Given the description of an element on the screen output the (x, y) to click on. 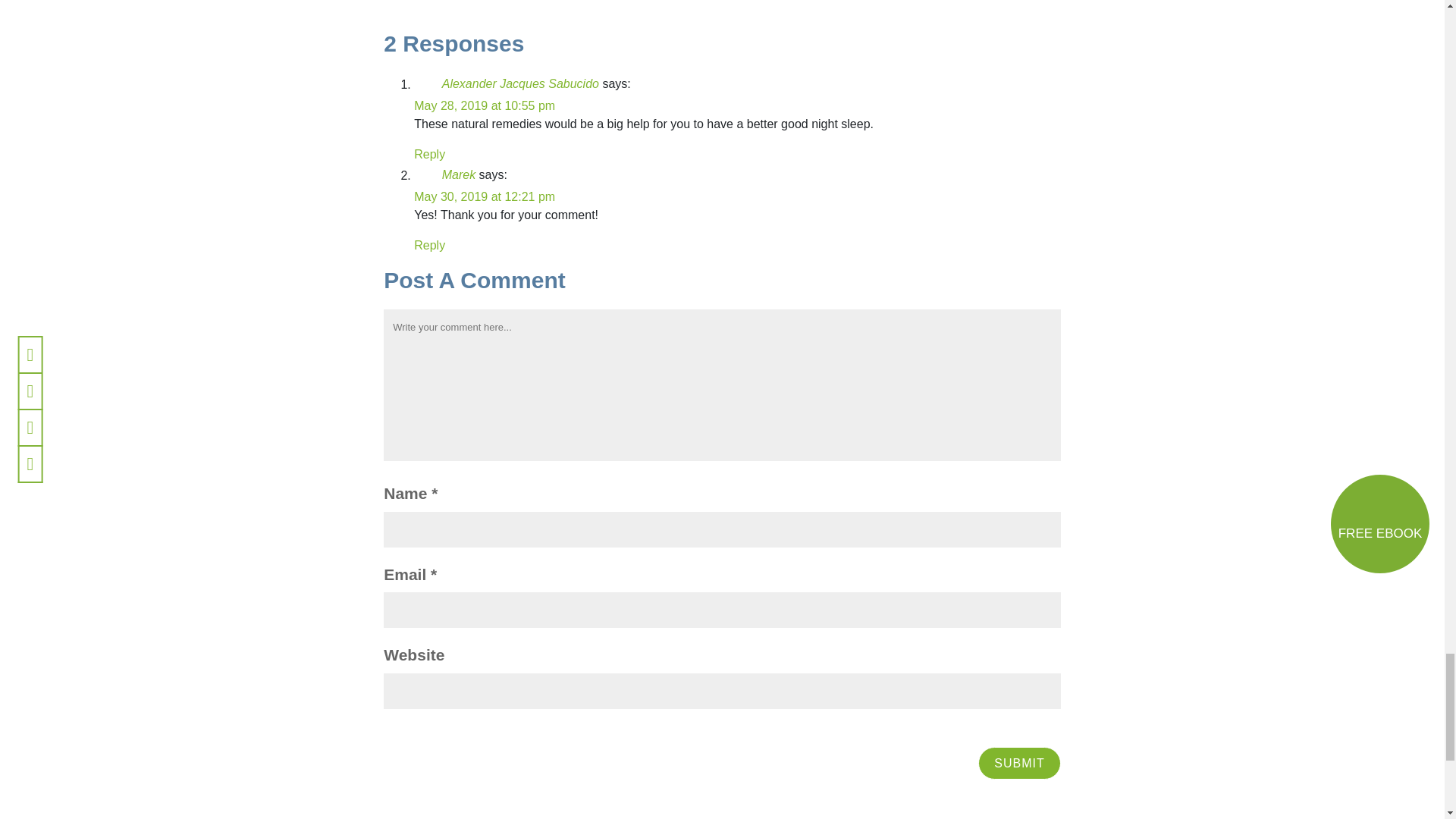
SUBMIT (1018, 762)
